Given the description of an element on the screen output the (x, y) to click on. 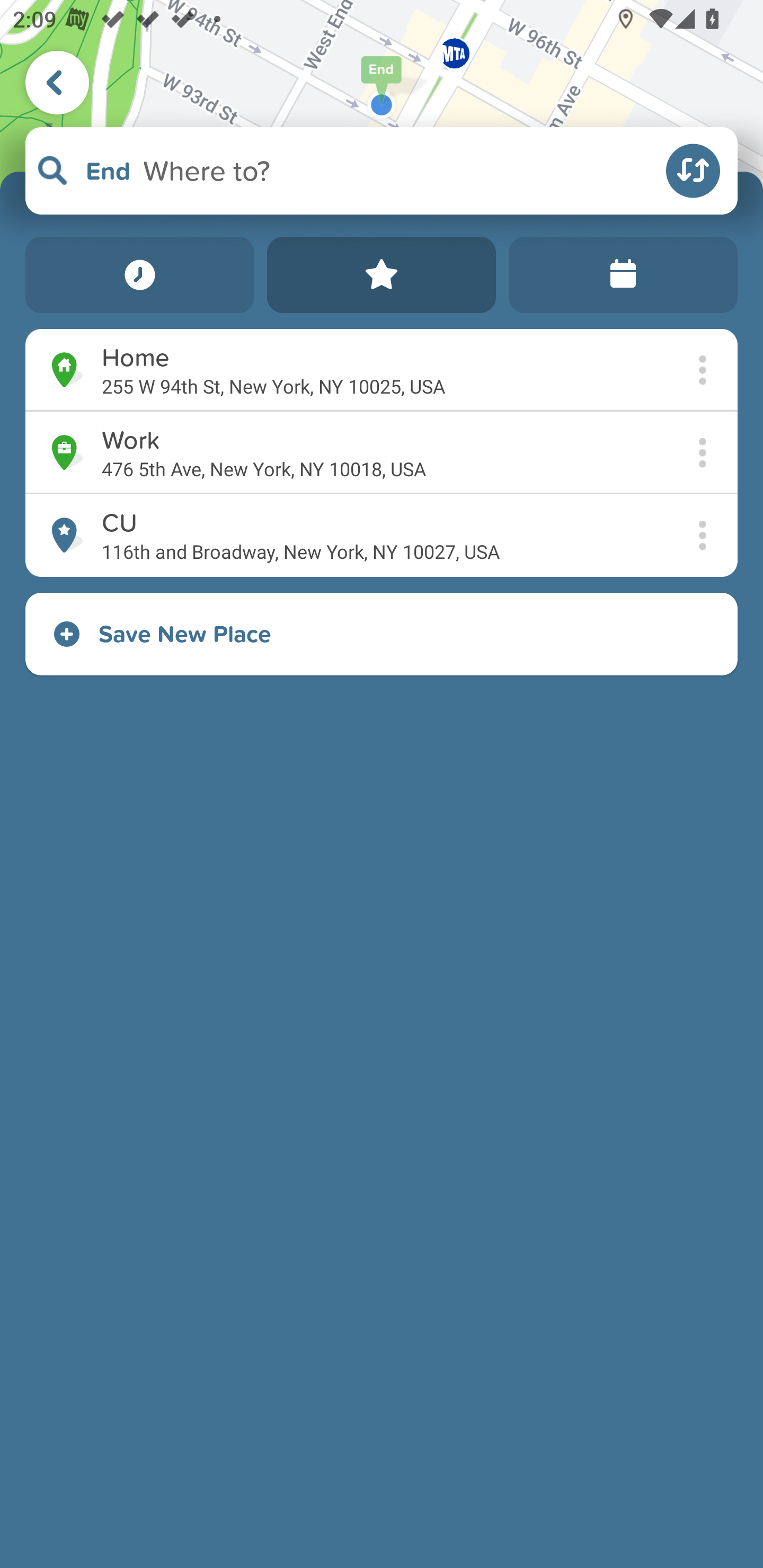
Save New Place (381, 633)
